Given the description of an element on the screen output the (x, y) to click on. 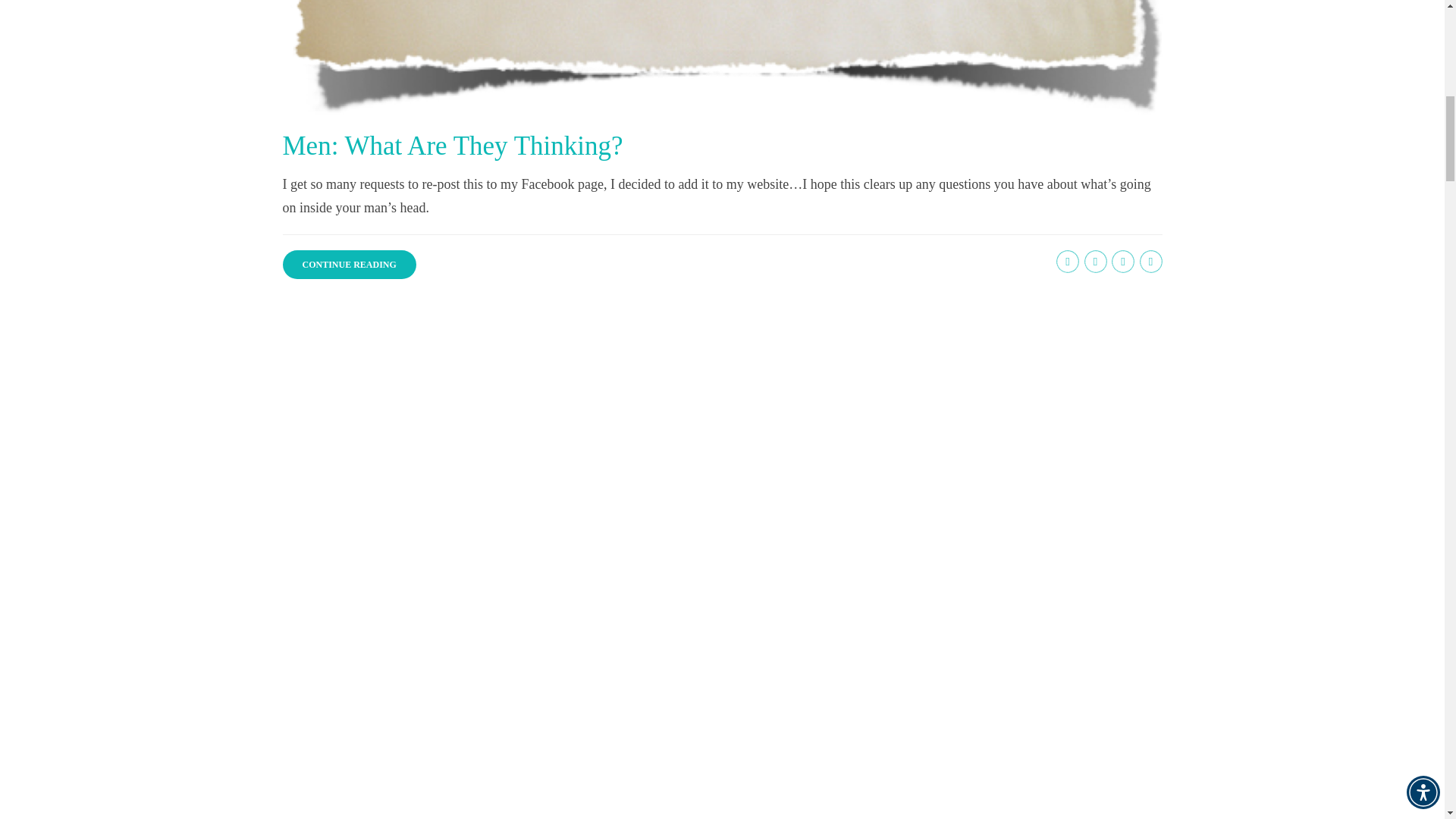
CONTINUE READING (348, 264)
Men: What Are They Thinking? (452, 145)
